Given the description of an element on the screen output the (x, y) to click on. 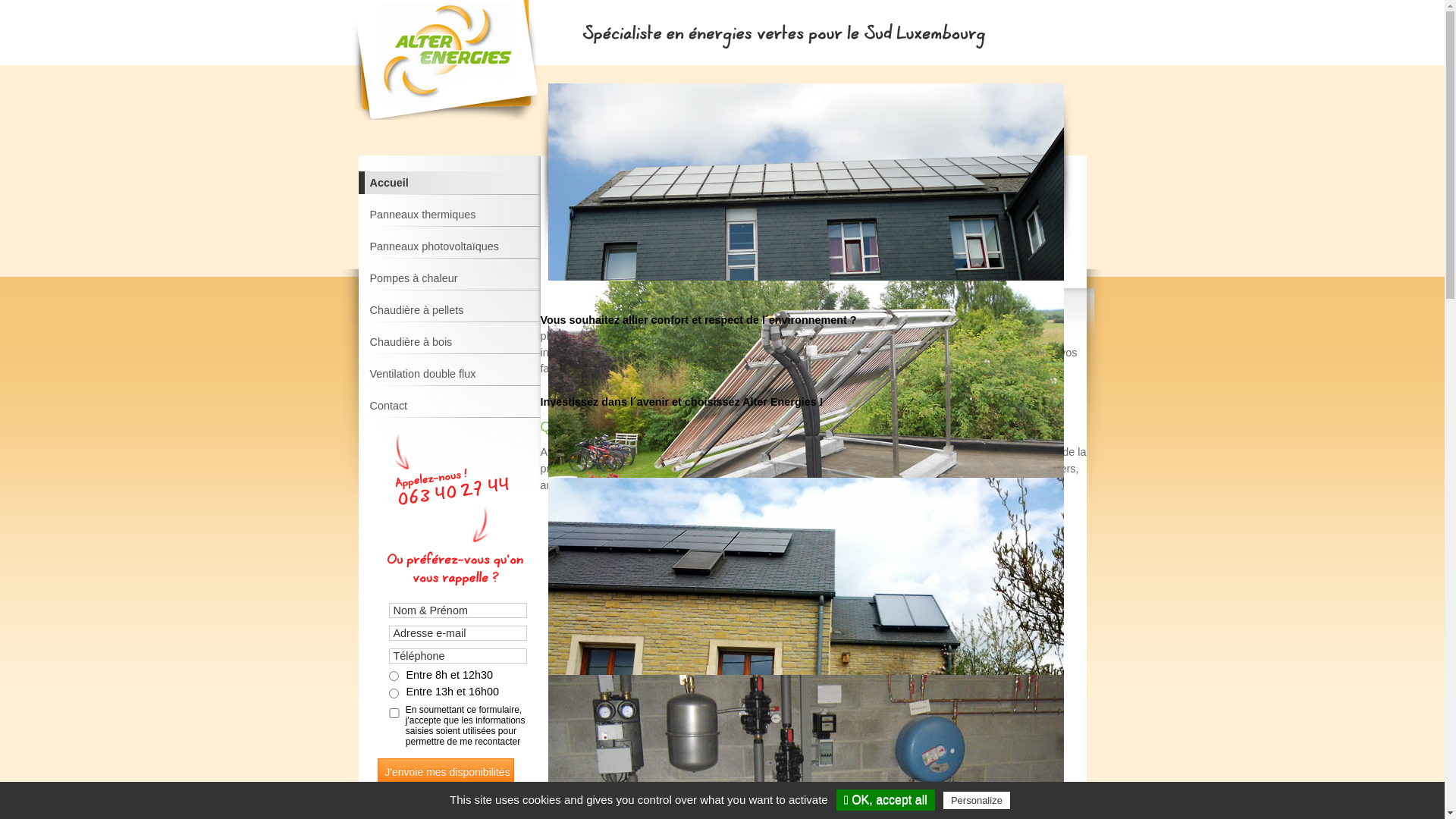
Accueil Element type: text (456, 185)
Panneaux thermiques Element type: text (456, 217)
Contact Element type: text (456, 408)
Personalize Element type: text (976, 800)
Ventilation double flux Element type: text (456, 377)
